Given the description of an element on the screen output the (x, y) to click on. 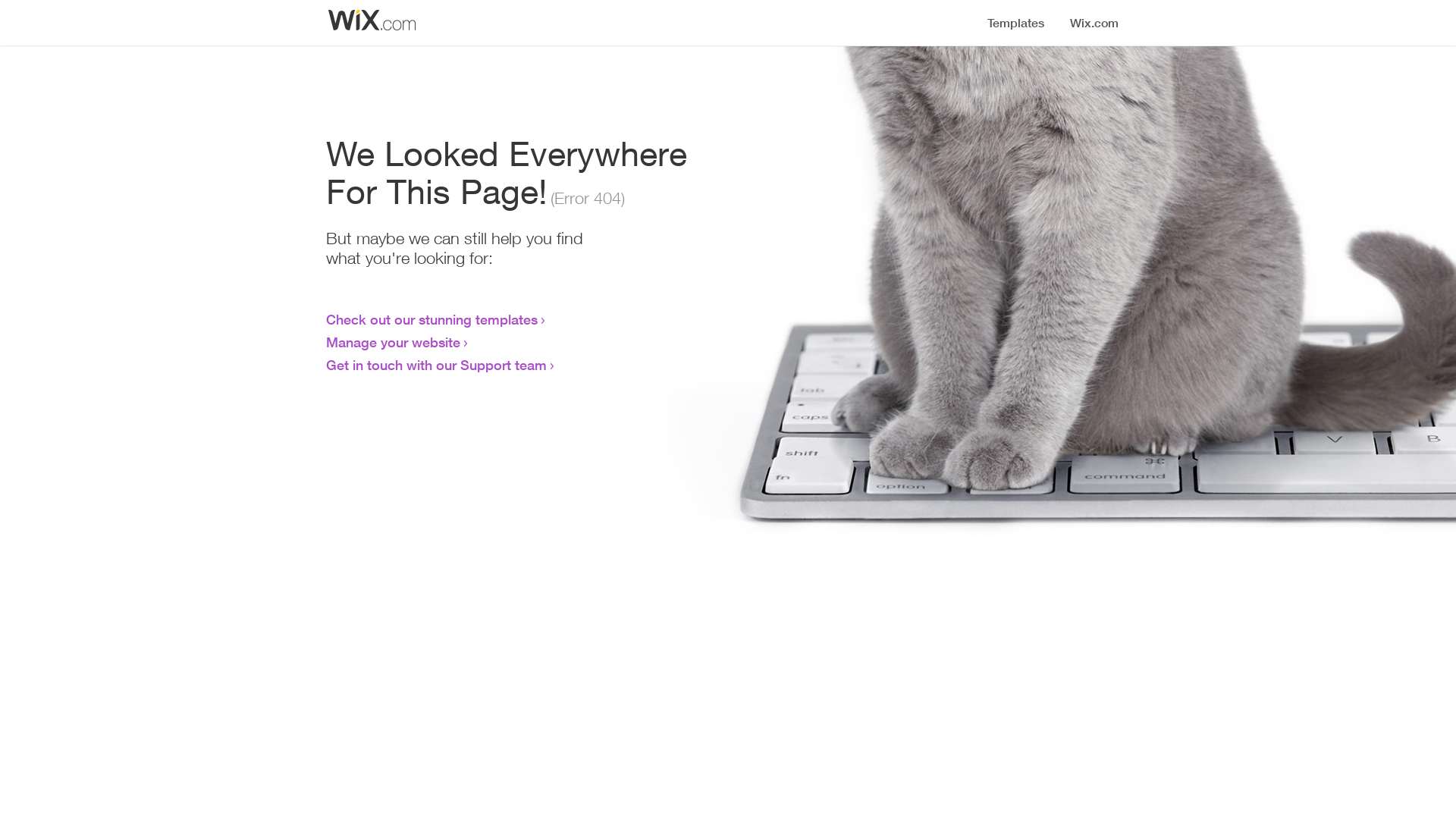
Manage your website Element type: text (393, 341)
Check out our stunning templates Element type: text (431, 318)
Get in touch with our Support team Element type: text (436, 364)
